Given the description of an element on the screen output the (x, y) to click on. 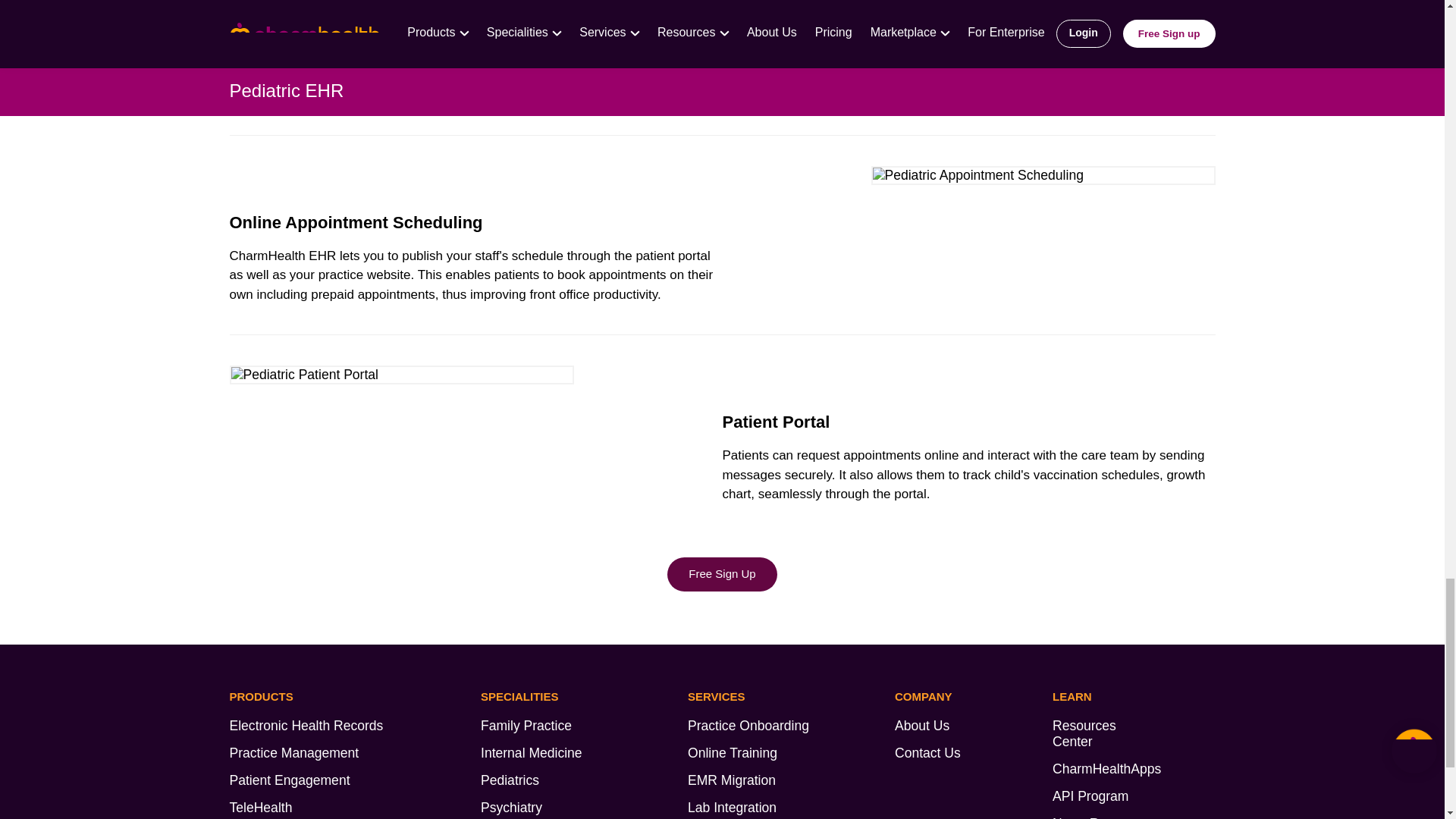
Pediatric Appointment Scheduling (1042, 175)
Pediatric Patient Portal (400, 374)
